Given the description of an element on the screen output the (x, y) to click on. 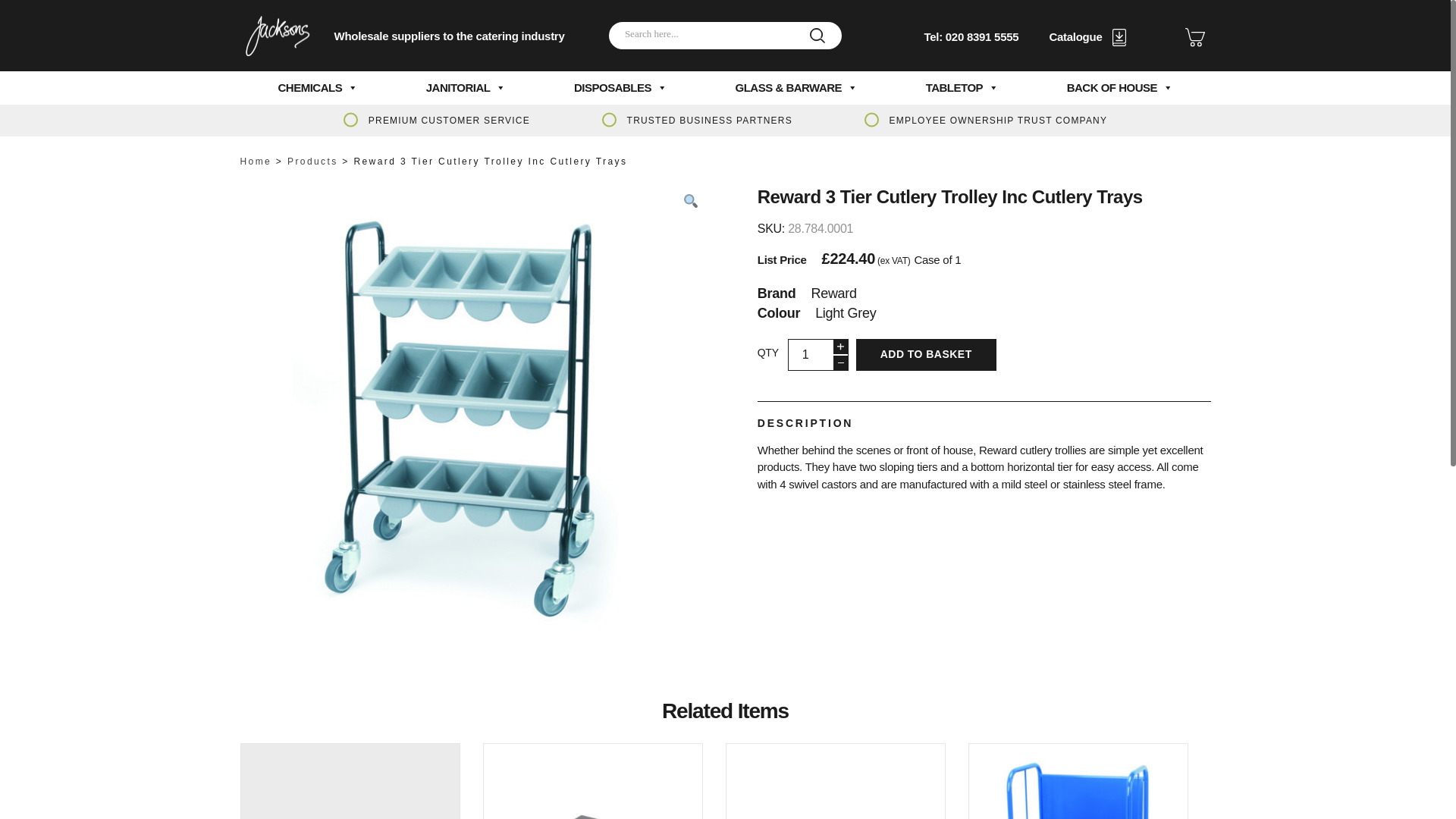
Wishlist (1194, 36)
CHEMICALS (317, 87)
JANITORIAL (465, 87)
1 (817, 355)
Tel: 020 8391 5555 (970, 36)
Catalogue (1086, 36)
